Given the description of an element on the screen output the (x, y) to click on. 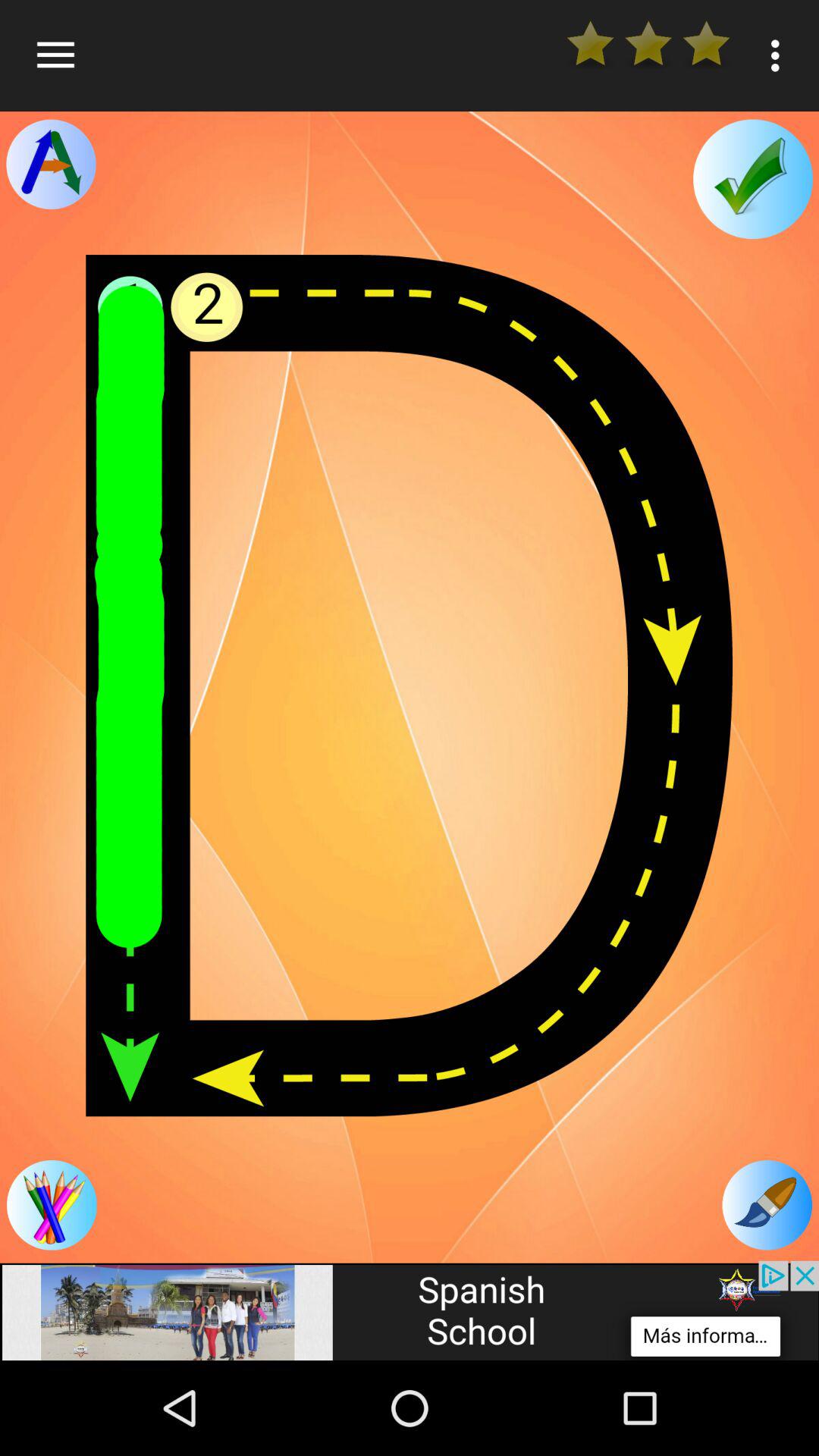
follow the arrows to complete the letter (51, 1205)
